Given the description of an element on the screen output the (x, y) to click on. 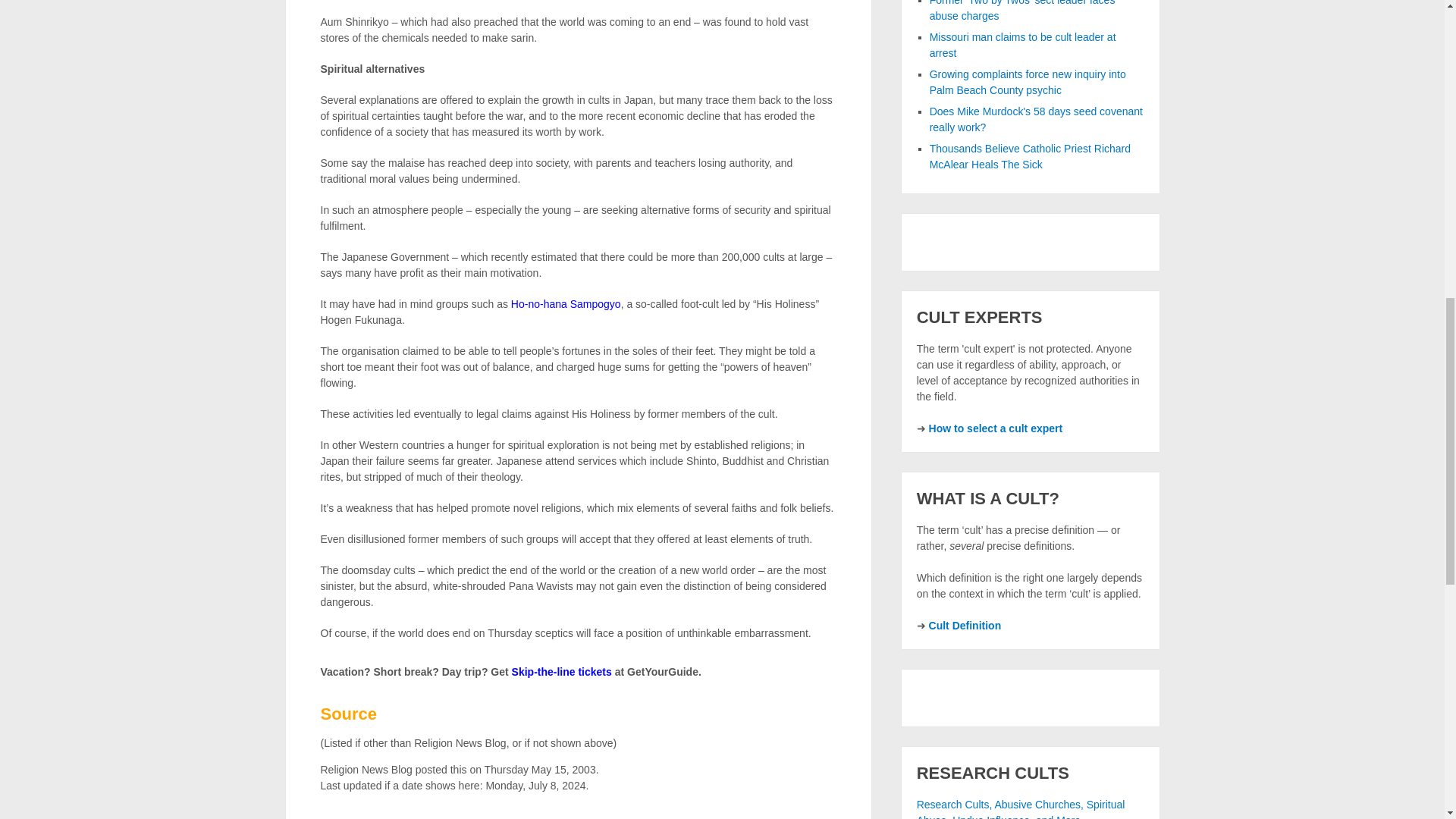
How to select a cult expert (995, 428)
Does Mike Murdock's 58 days seed covenant really work? (1036, 119)
Missouri man claims to be cult leader at arrest (1023, 44)
Former 'Two by Twos' sect leader faces abuse charges (1022, 11)
Ho-no-hana Sampogyo (566, 304)
Cult Definition (964, 625)
Skip-the-line tickets (561, 671)
